Given the description of an element on the screen output the (x, y) to click on. 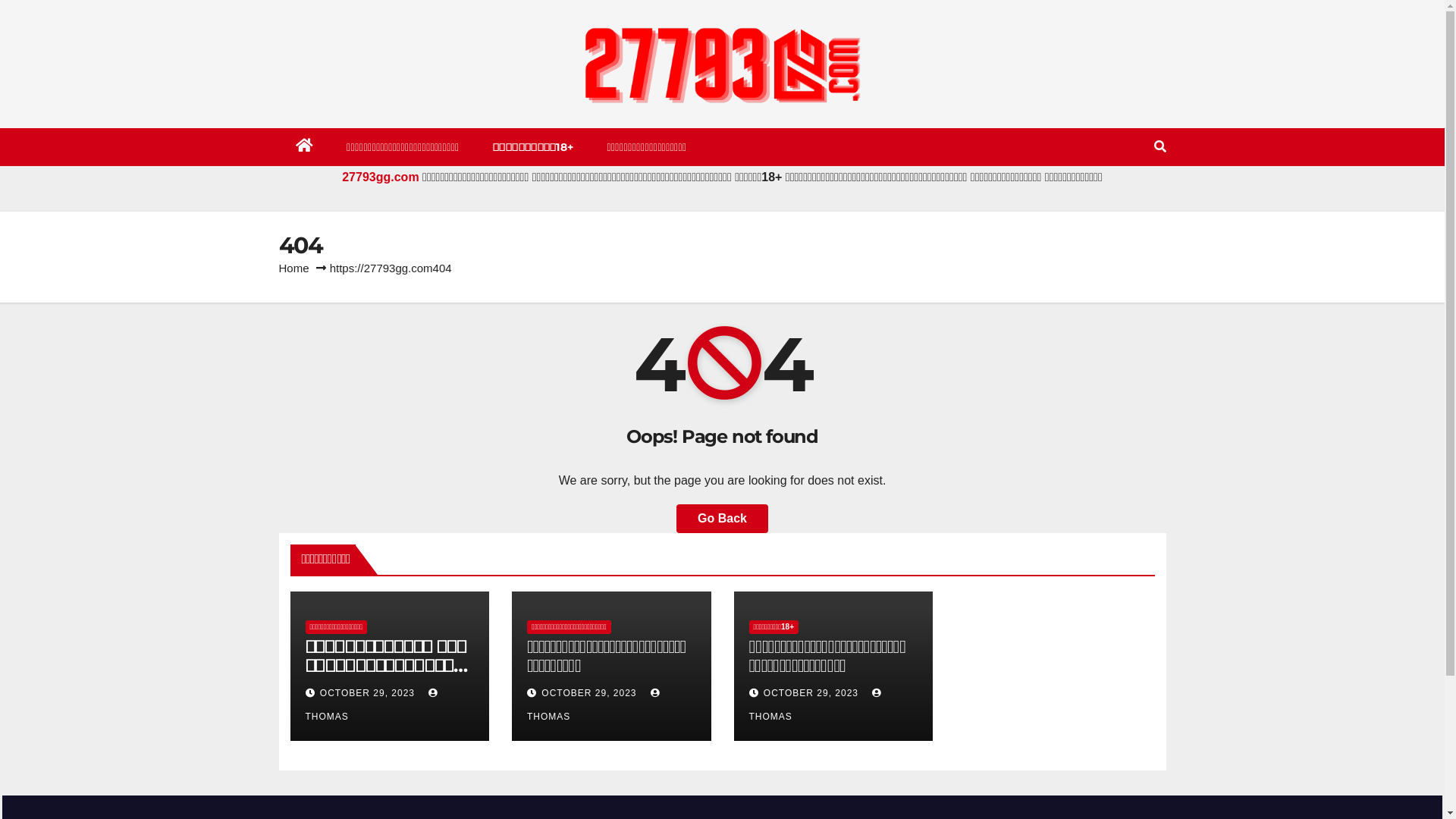
OCTOBER 29, 2023 Element type: text (369, 692)
THOMAS Element type: text (372, 704)
Home Element type: text (294, 267)
THOMAS Element type: text (595, 704)
OCTOBER 29, 2023 Element type: text (812, 692)
OCTOBER 29, 2023 Element type: text (590, 692)
Go Back Element type: text (722, 518)
27793gg.com Element type: text (380, 176)
THOMAS Element type: text (817, 704)
